Given the description of an element on the screen output the (x, y) to click on. 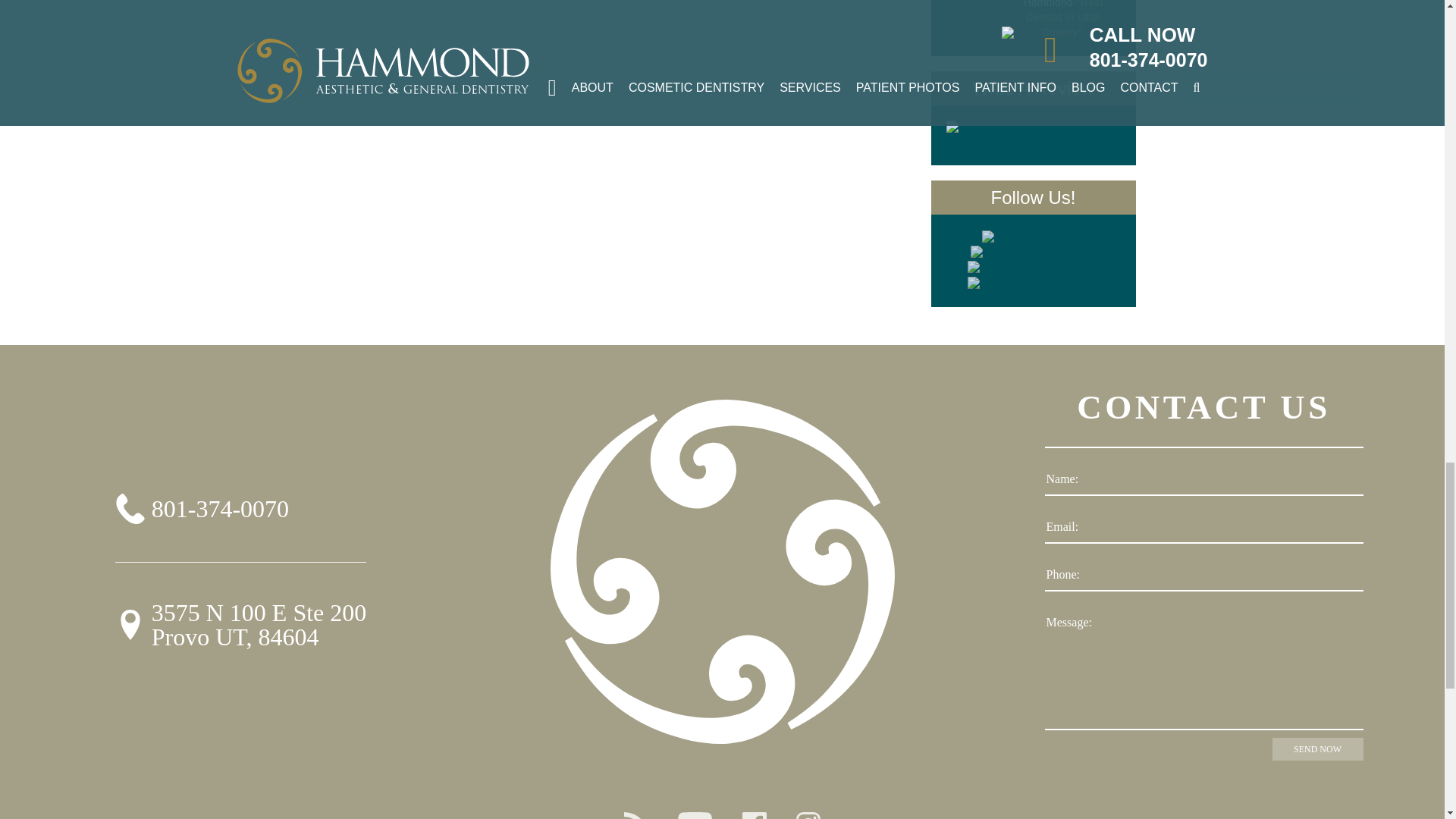
Follow Us on Instagram (1033, 283)
Send Now (1317, 748)
Follow Us on RSS (1032, 237)
Follow Us on Facebook (1032, 268)
DailyHerald (968, 5)
Follow Us on YouTube (1033, 253)
